Given the description of an element on the screen output the (x, y) to click on. 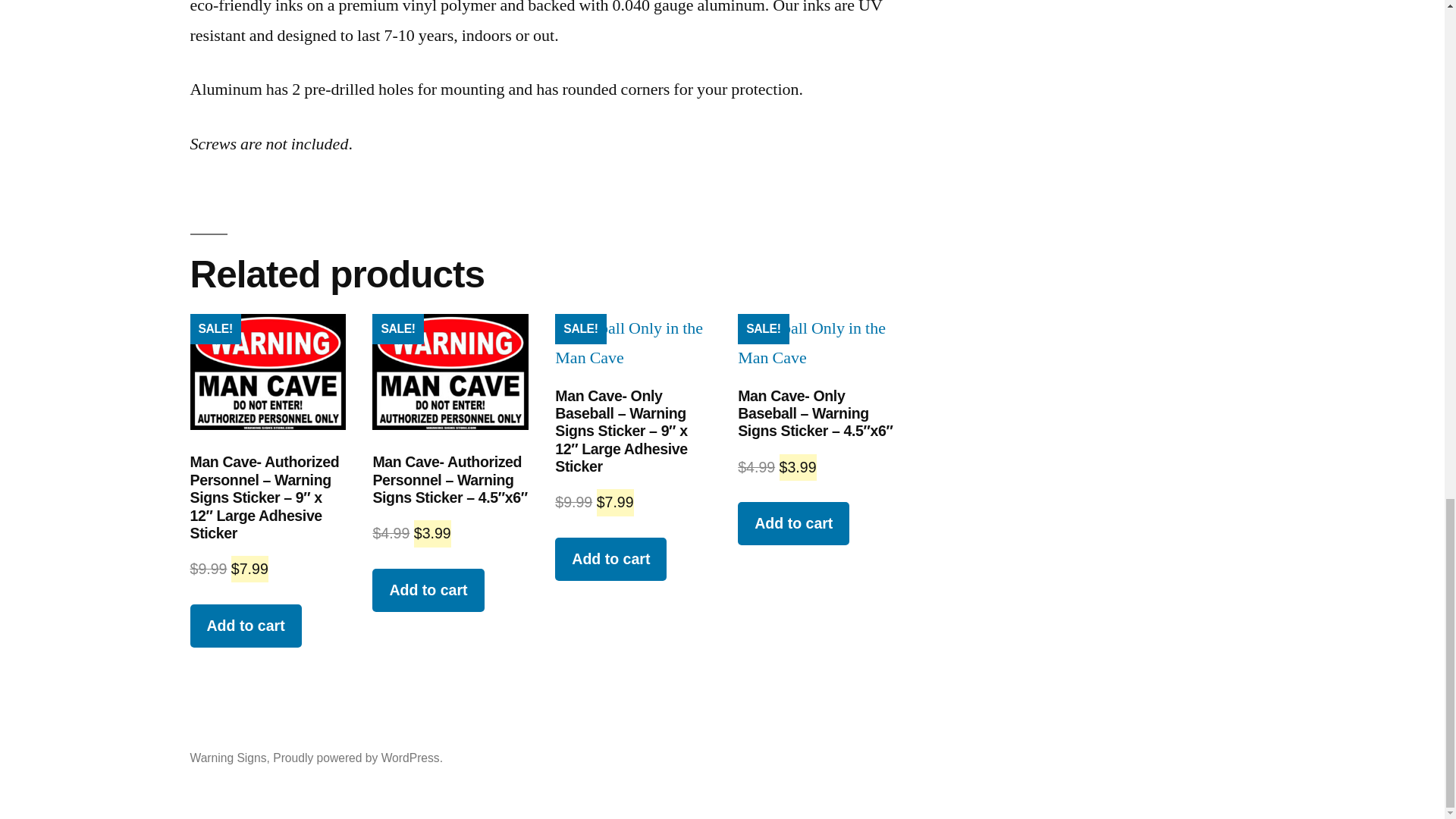
Add to cart (610, 558)
Add to cart (427, 589)
Add to cart (793, 523)
Add to cart (245, 625)
